Given the description of an element on the screen output the (x, y) to click on. 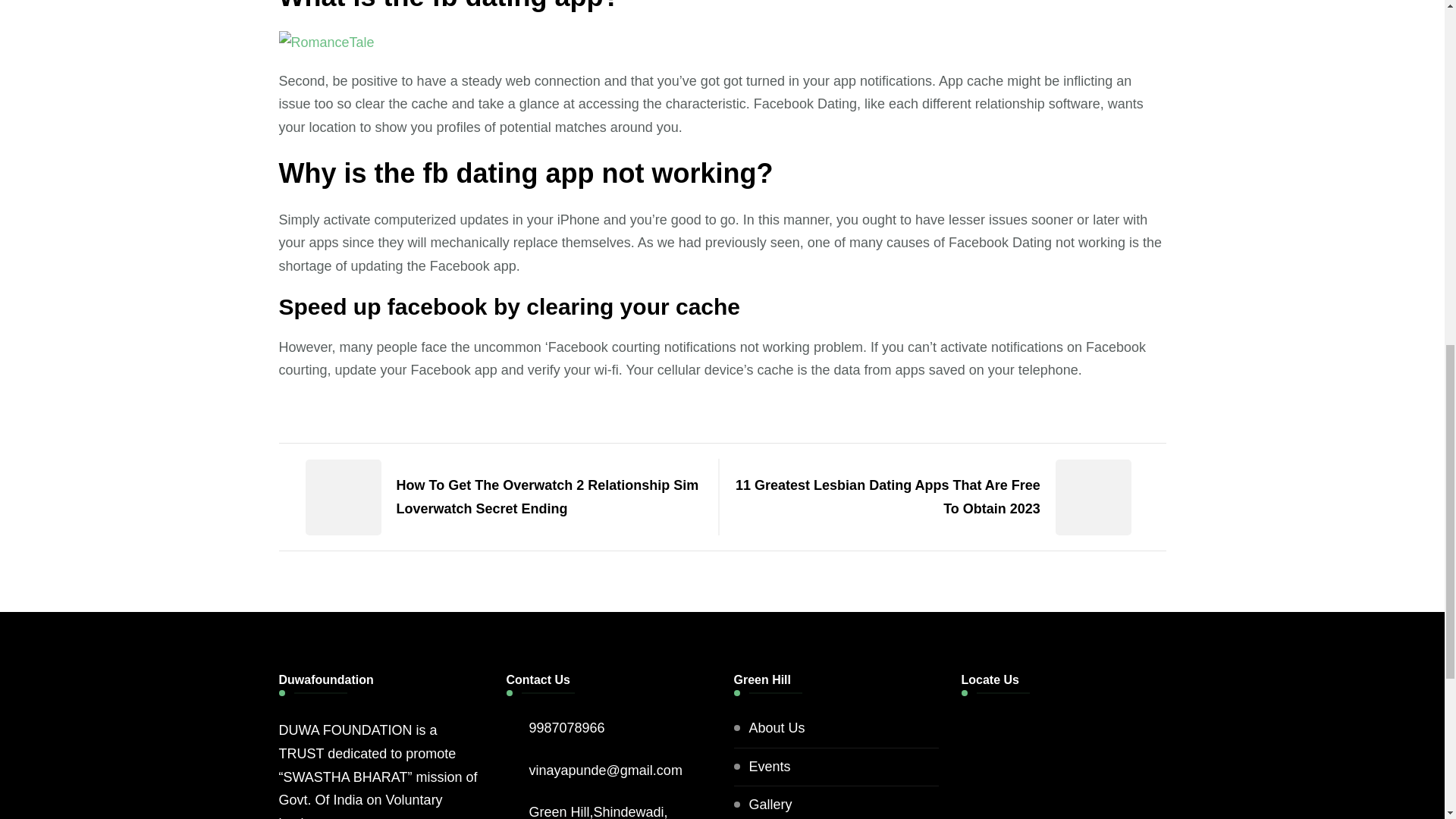
About Us (777, 728)
9987078966 (567, 728)
11 Greatest Lesbian Dating Apps That Are Free To Obtain 2023 (946, 497)
Events (769, 765)
Gallery (770, 804)
